Given the description of an element on the screen output the (x, y) to click on. 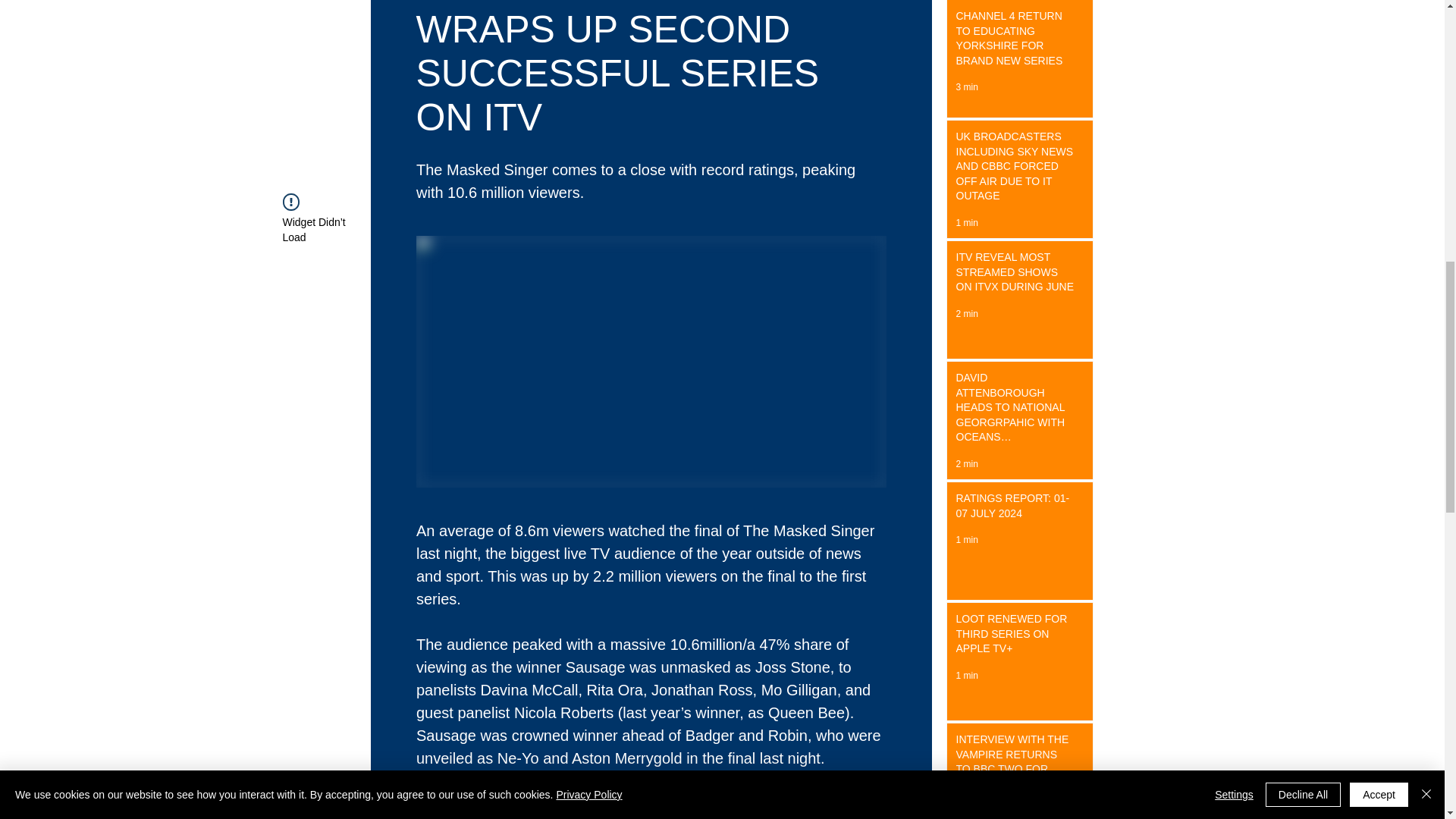
2 min (965, 313)
RATINGS REPORT: 01-07 JULY 2024 (1014, 509)
1 min (965, 675)
1 min (965, 222)
2 min (965, 463)
1 min (965, 810)
1 min (965, 539)
ITV REVEAL MOST STREAMED SHOWS ON ITVX DURING JUNE (1014, 275)
3 min (965, 86)
CHANNEL 4 RETURN TO EDUCATING YORKSHIRE FOR BRAND NEW SERIES (1014, 41)
